Given the description of an element on the screen output the (x, y) to click on. 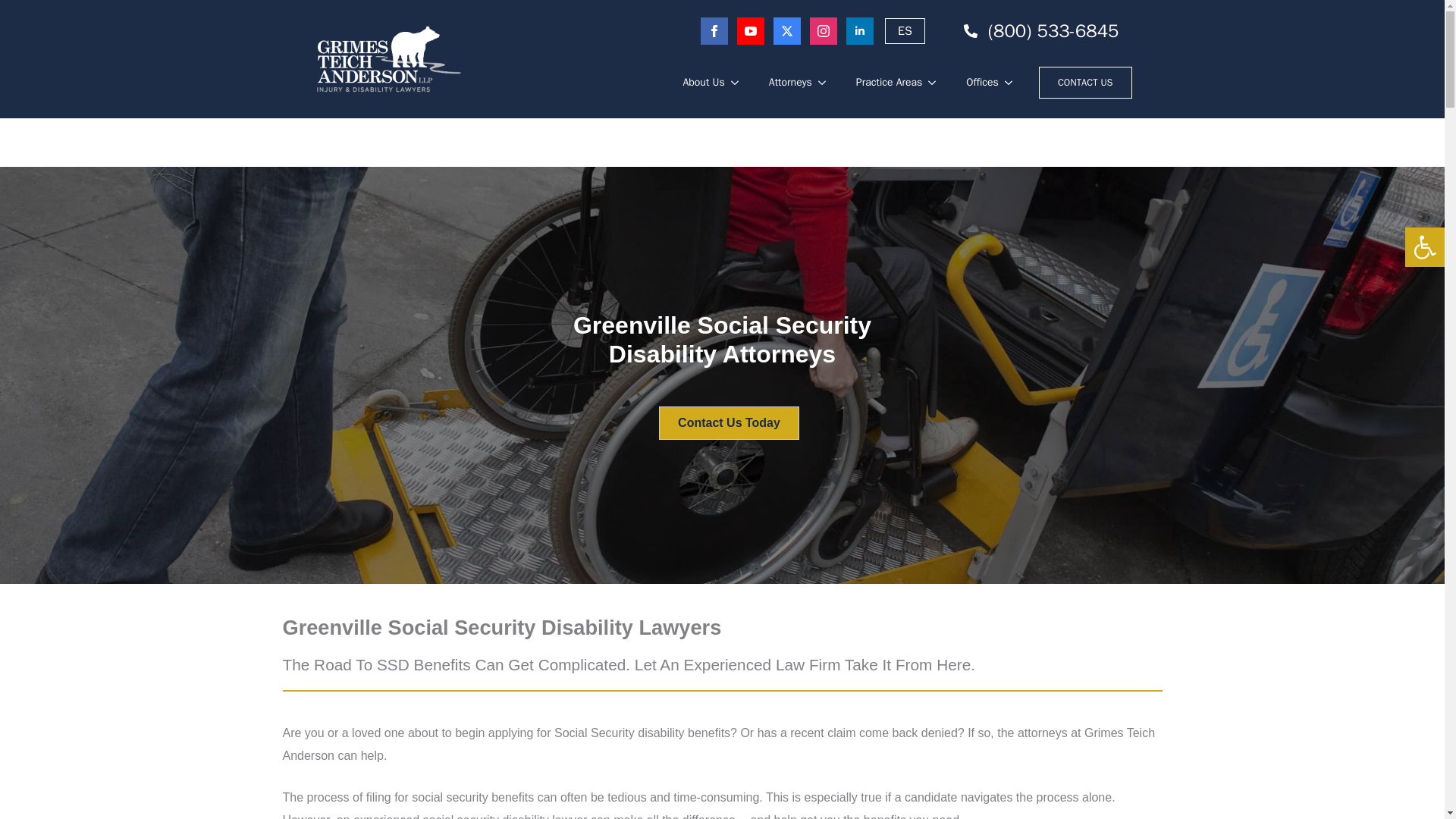
Accessibility Tools (1424, 247)
ES (904, 31)
About Us (694, 82)
Attorneys (783, 82)
Practice Areas (882, 82)
